Given the description of an element on the screen output the (x, y) to click on. 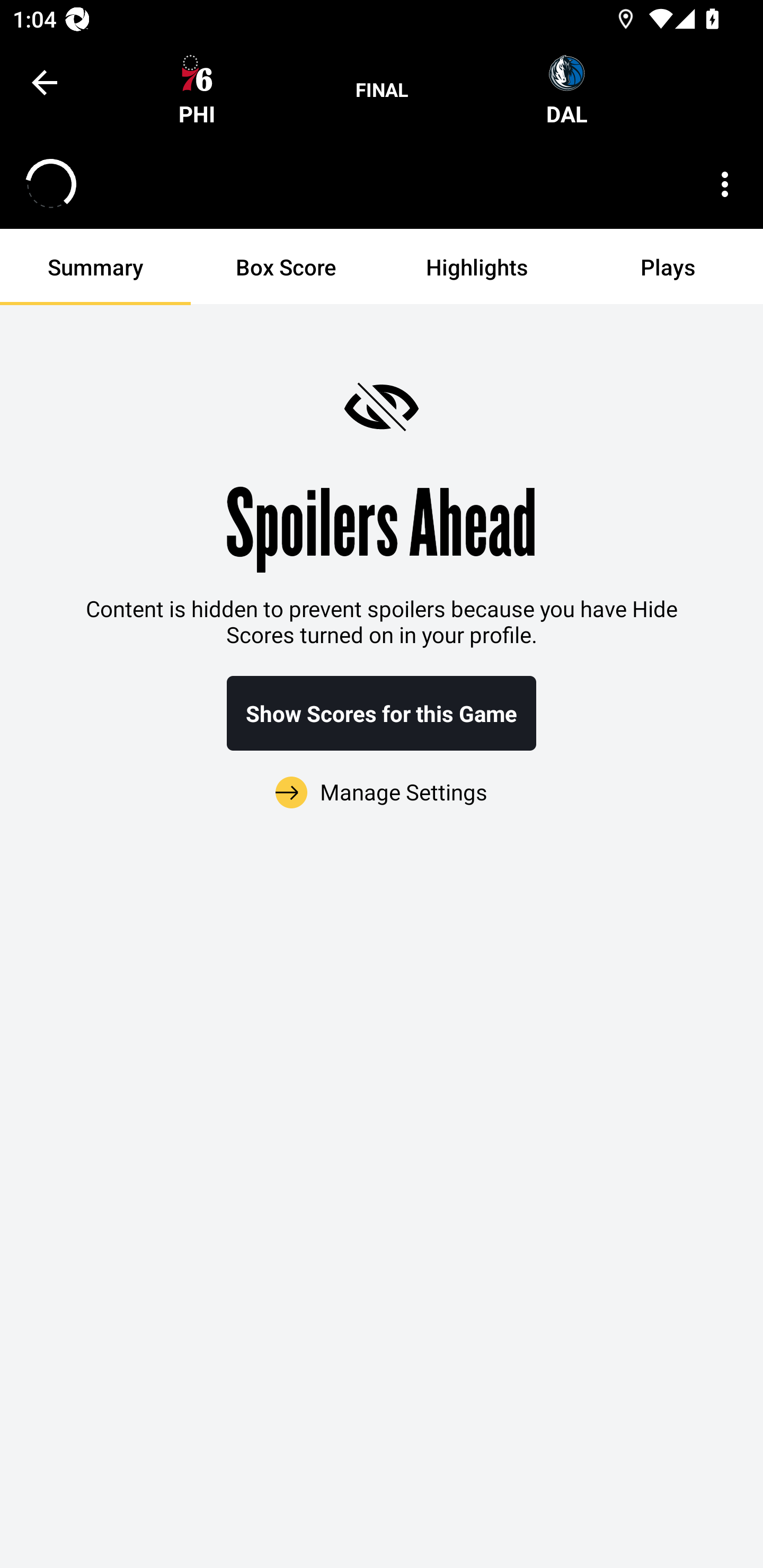
Navigate up (44, 82)
More options (724, 183)
Box Score (285, 266)
Highlights (476, 266)
Plays (667, 266)
Show Scores for this Game (381, 713)
Manage Settings (381, 781)
